Given the description of an element on the screen output the (x, y) to click on. 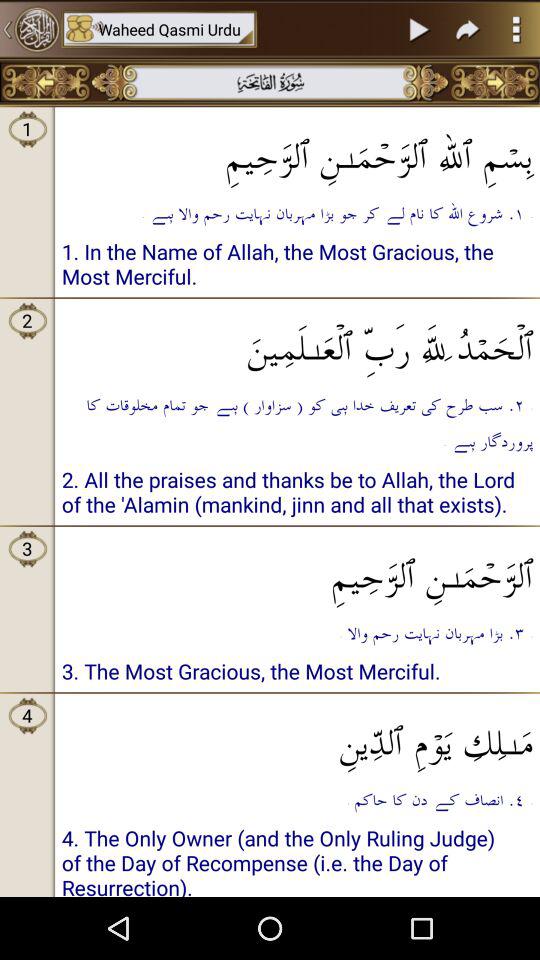
press the icon next to waheed qasmi urdu item (30, 29)
